Given the description of an element on the screen output the (x, y) to click on. 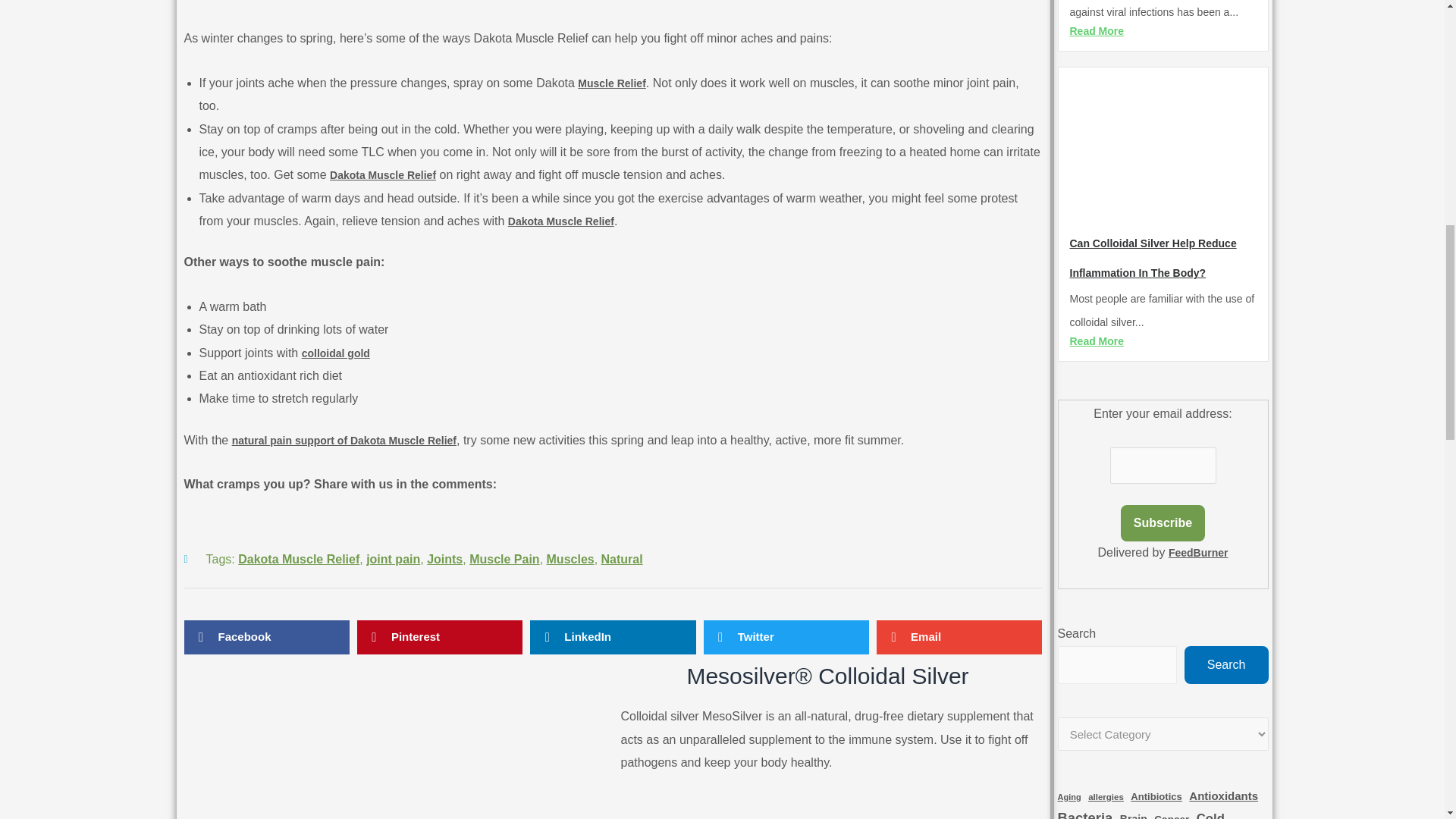
colloidal gold (335, 353)
Can Colloidal Silver Help Reduce Inflammation In The Body? (1152, 258)
Muscle Relief (611, 82)
Subscribe (1163, 523)
